Given the description of an element on the screen output the (x, y) to click on. 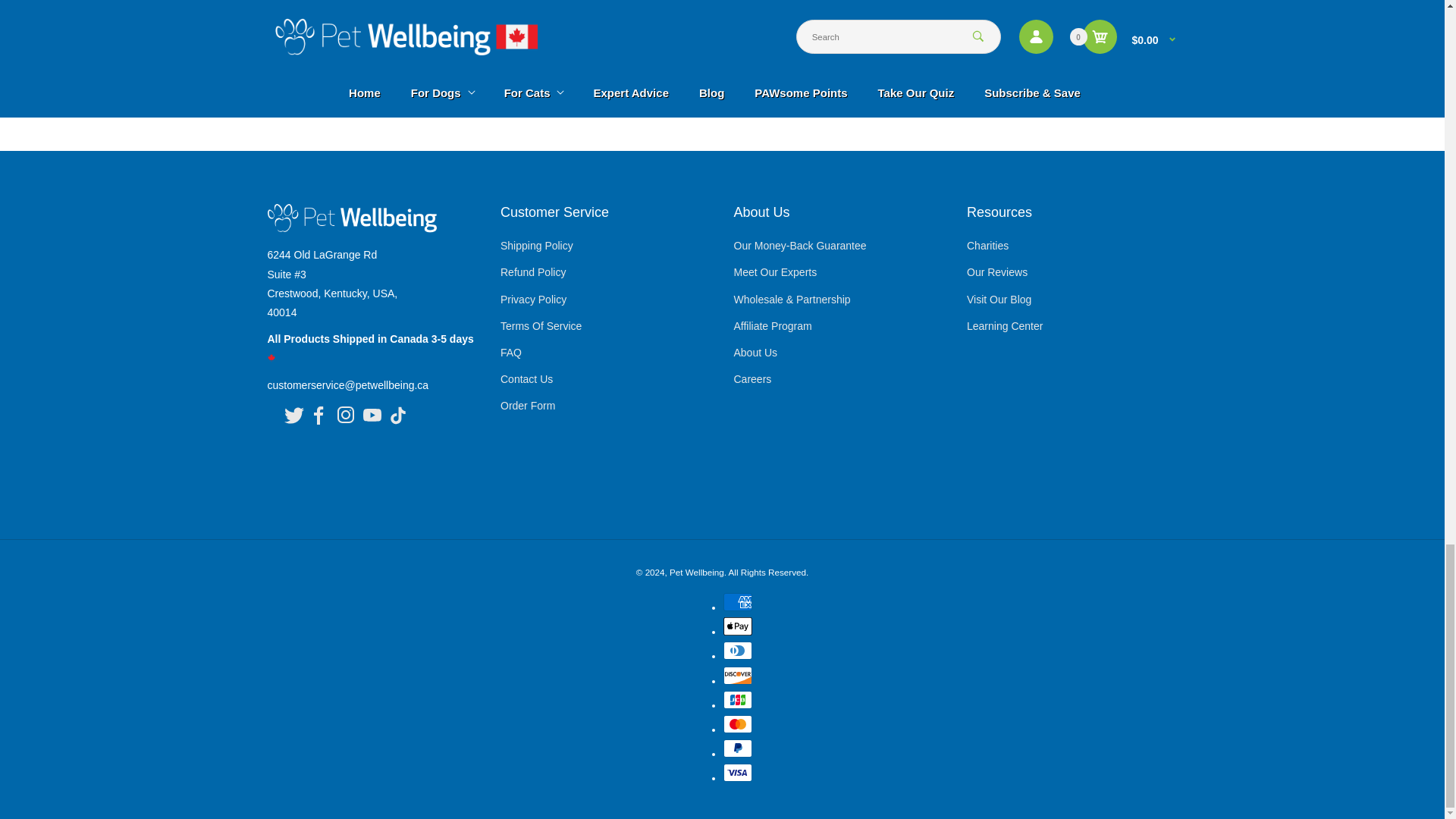
Apple Pay (737, 626)
Mastercard (737, 723)
Discover (737, 675)
JCB (737, 700)
Diners Club (737, 650)
American Express (737, 601)
